Given the description of an element on the screen output the (x, y) to click on. 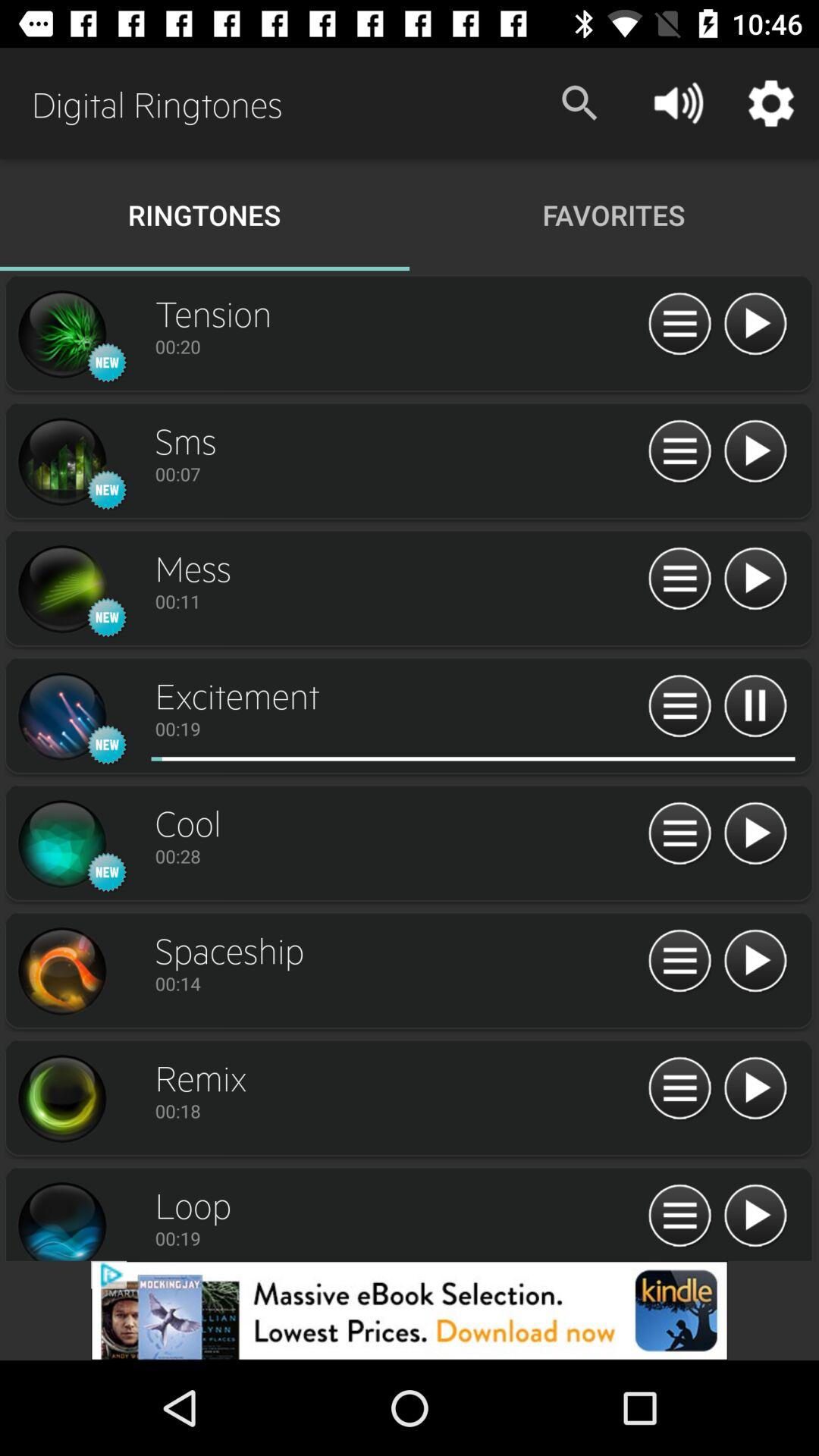
menu dropdown for tension ringtone (679, 324)
